Given the description of an element on the screen output the (x, y) to click on. 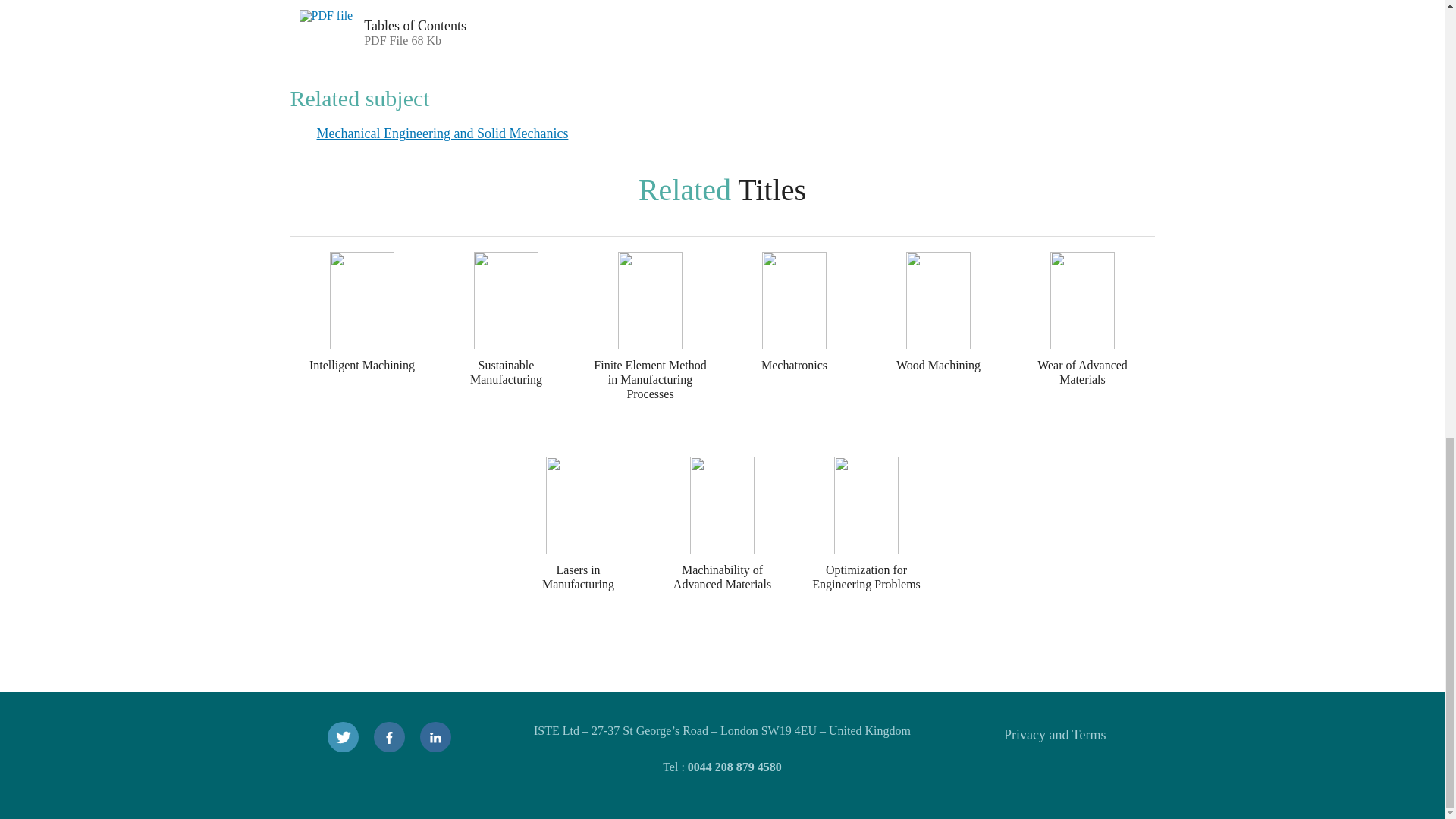
Download PDF file (326, 28)
Mechanical Engineering and Solid Mechanics (499, 23)
Privacy and Terms (443, 133)
